Given the description of an element on the screen output the (x, y) to click on. 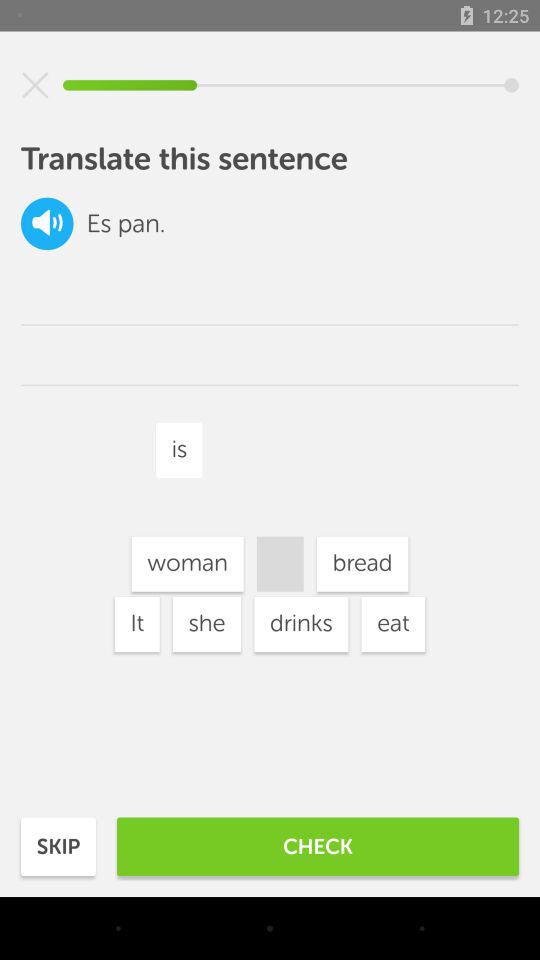
turn on the item above it icon (187, 563)
